Given the description of an element on the screen output the (x, y) to click on. 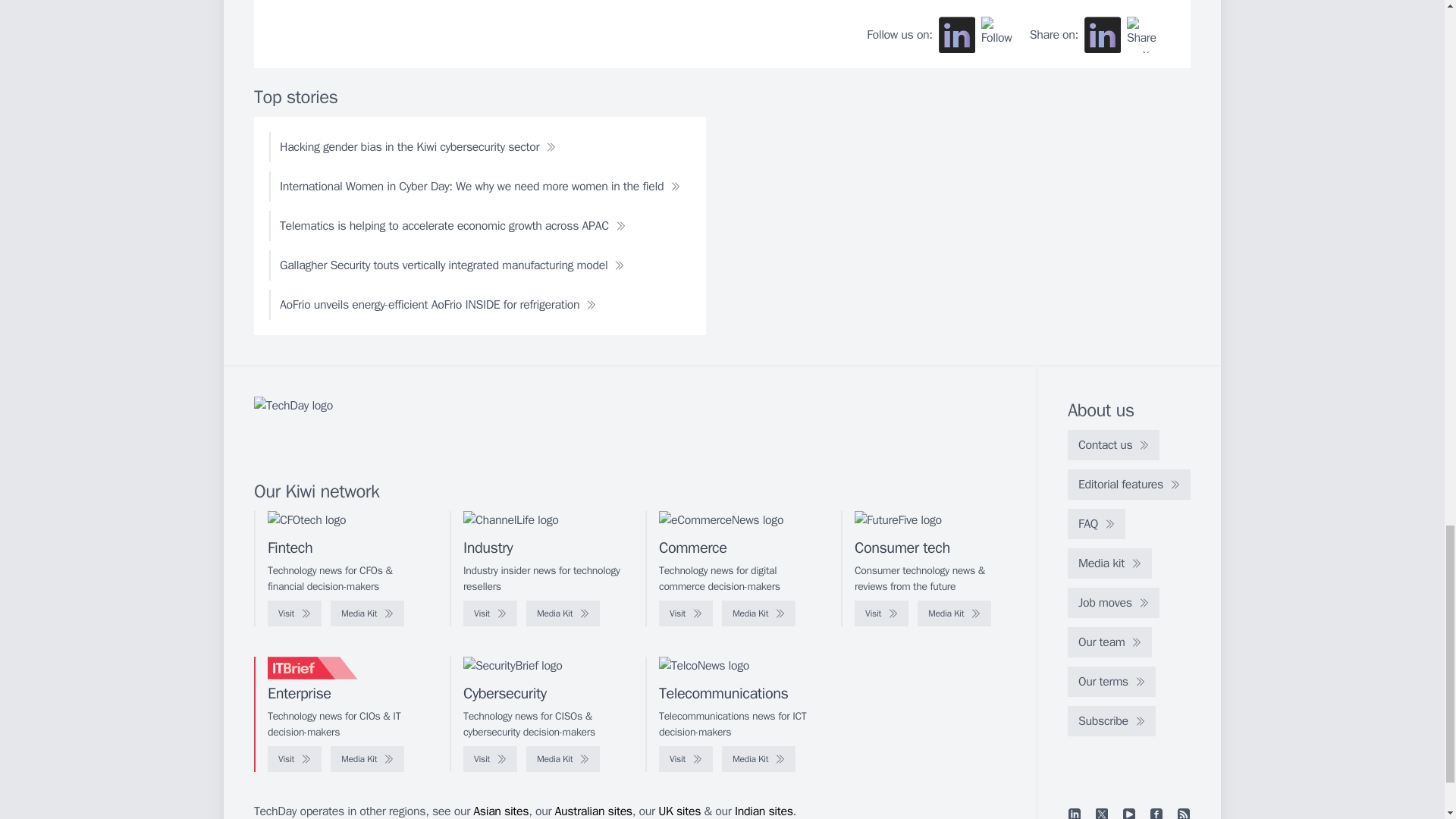
Media Kit (758, 613)
Media Kit (562, 613)
Visit (489, 613)
Visit (294, 613)
Visit (686, 613)
Visit (881, 613)
